Given the description of an element on the screen output the (x, y) to click on. 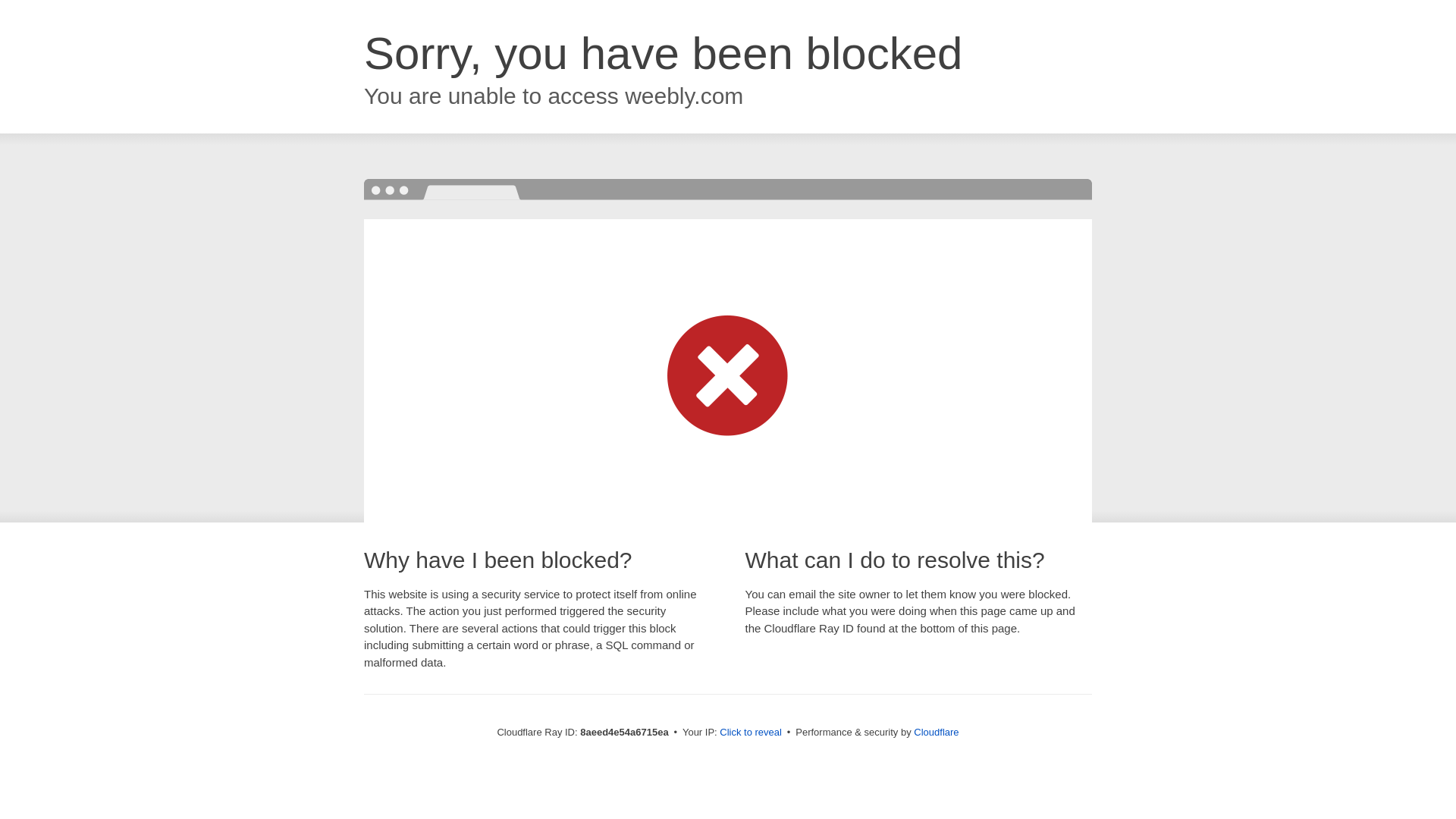
Click to reveal (750, 732)
Cloudflare (936, 731)
